Given the description of an element on the screen output the (x, y) to click on. 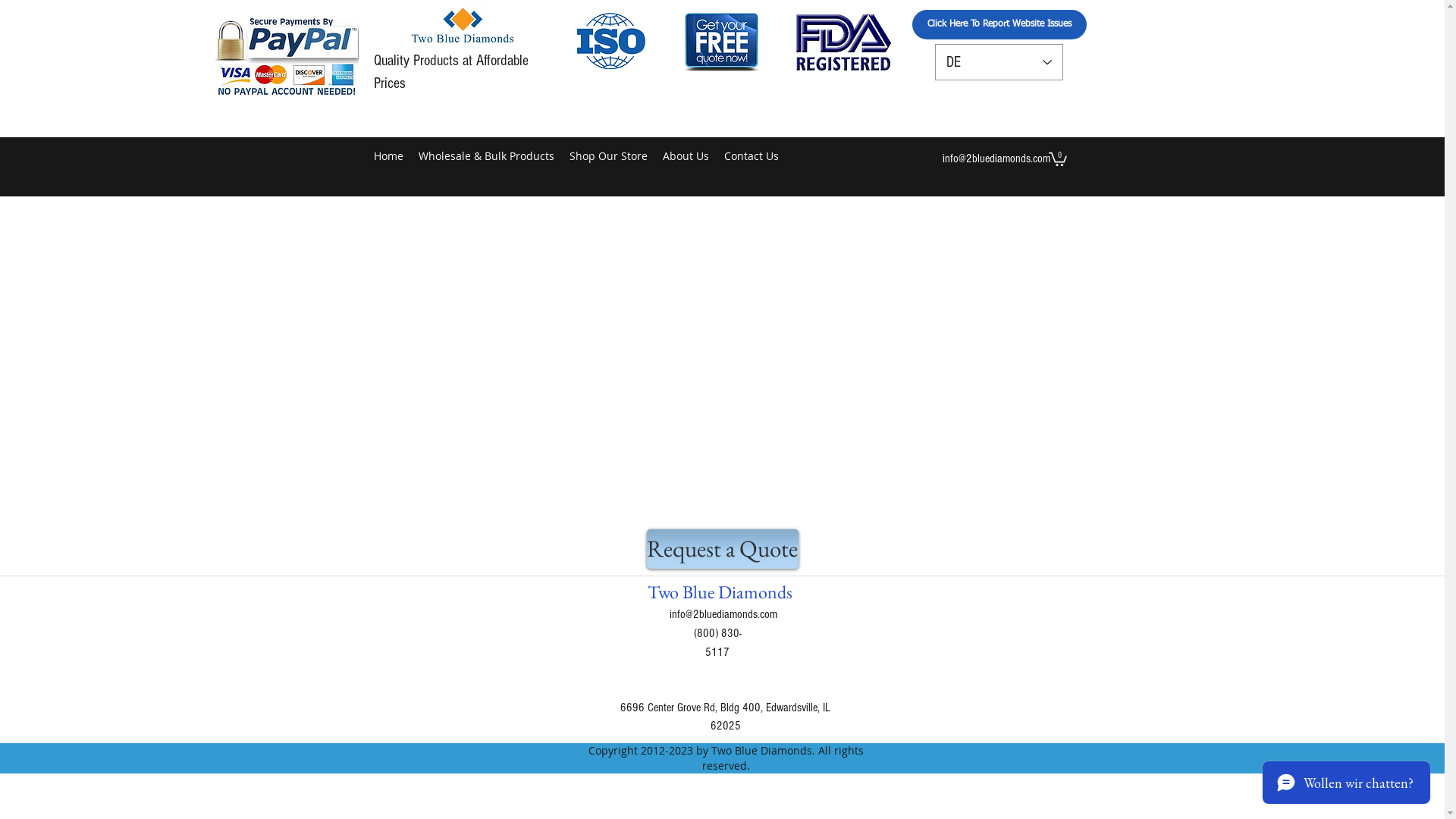
Click Here To Report Website Issues Element type: text (998, 24)
info@2bluediamonds.com Element type: text (722, 614)
Contact Us Element type: text (750, 155)
info@2bluediamonds.com Element type: text (995, 158)
Shop Our Store Element type: text (607, 155)
About Us Element type: text (685, 155)
Wholesale & Bulk Products Element type: text (486, 155)
Home Element type: text (387, 155)
Request a Quote Element type: text (721, 548)
0 Element type: text (1057, 158)
